Given the description of an element on the screen output the (x, y) to click on. 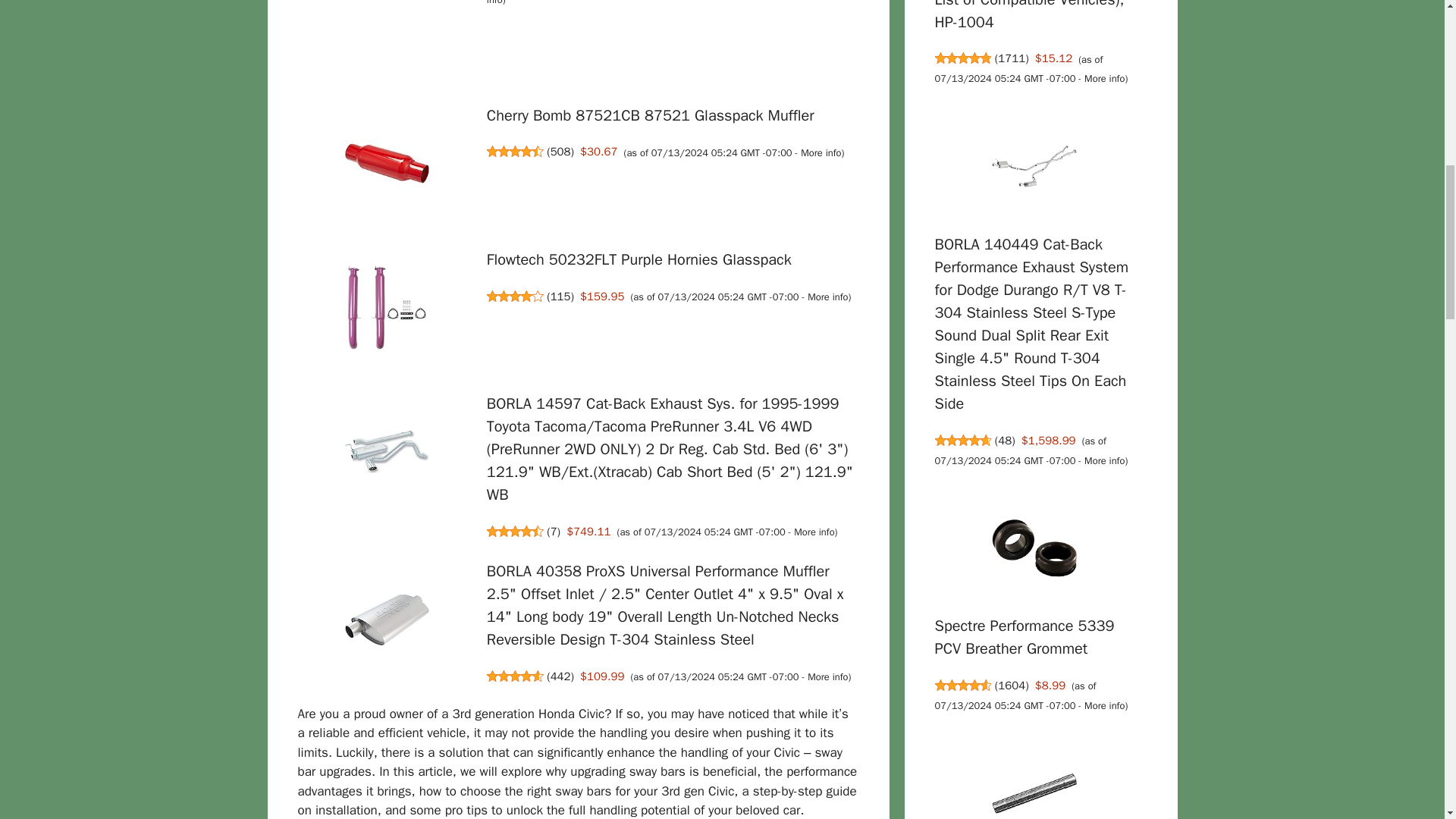
Cherry Bomb 87521CB 87521 Glasspack Muffler:  (649, 115)
More info (827, 676)
BORLA 40358 ProXS Universal Performance Muffler 2.5 (665, 605)
Flowtech 50232FLT Purple Hornies Glasspack:  (387, 309)
More info (660, 3)
More info (820, 152)
Advertisement (640, 61)
Flowtech 50232FLT Purple Hornies Glasspack:  (639, 259)
More info (813, 532)
Flowtech 50232FLT Purple Hornies Glasspack (639, 259)
442 (560, 676)
508 (560, 151)
Cherry Bomb 87521CB 87521 Glasspack Muffler (649, 115)
115 (560, 296)
More info (827, 297)
